Given the description of an element on the screen output the (x, y) to click on. 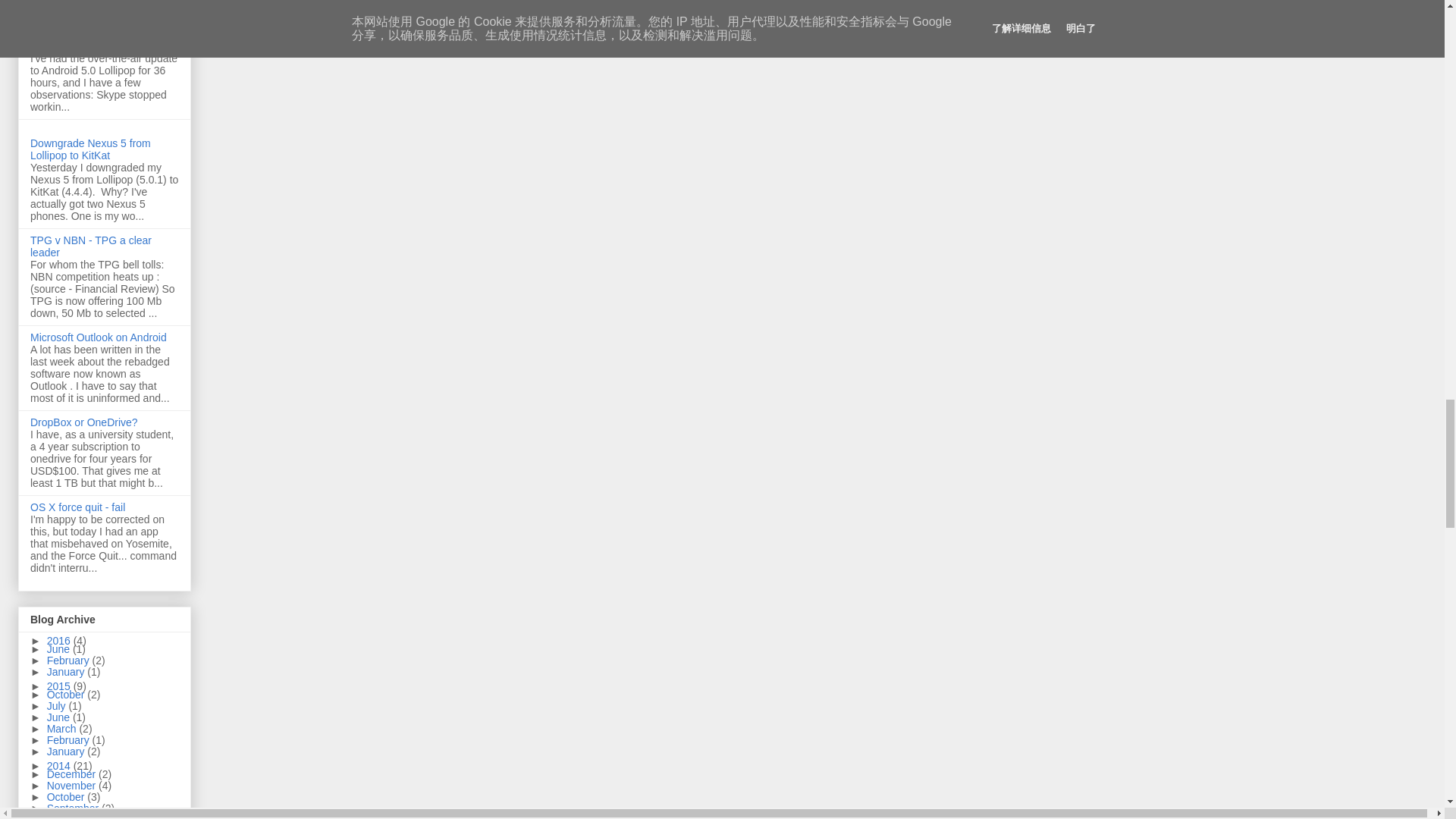
Microsoft Outlook on Android (98, 337)
OS X force quit - fail (77, 507)
Downgrade Nexus 5 from Lollipop to KitKat (90, 149)
Android 5.0 Lollipop - early issues (93, 39)
June (59, 648)
DropBox or OneDrive? (84, 422)
TPG v NBN - TPG a clear leader (90, 246)
2016 (60, 640)
